Given the description of an element on the screen output the (x, y) to click on. 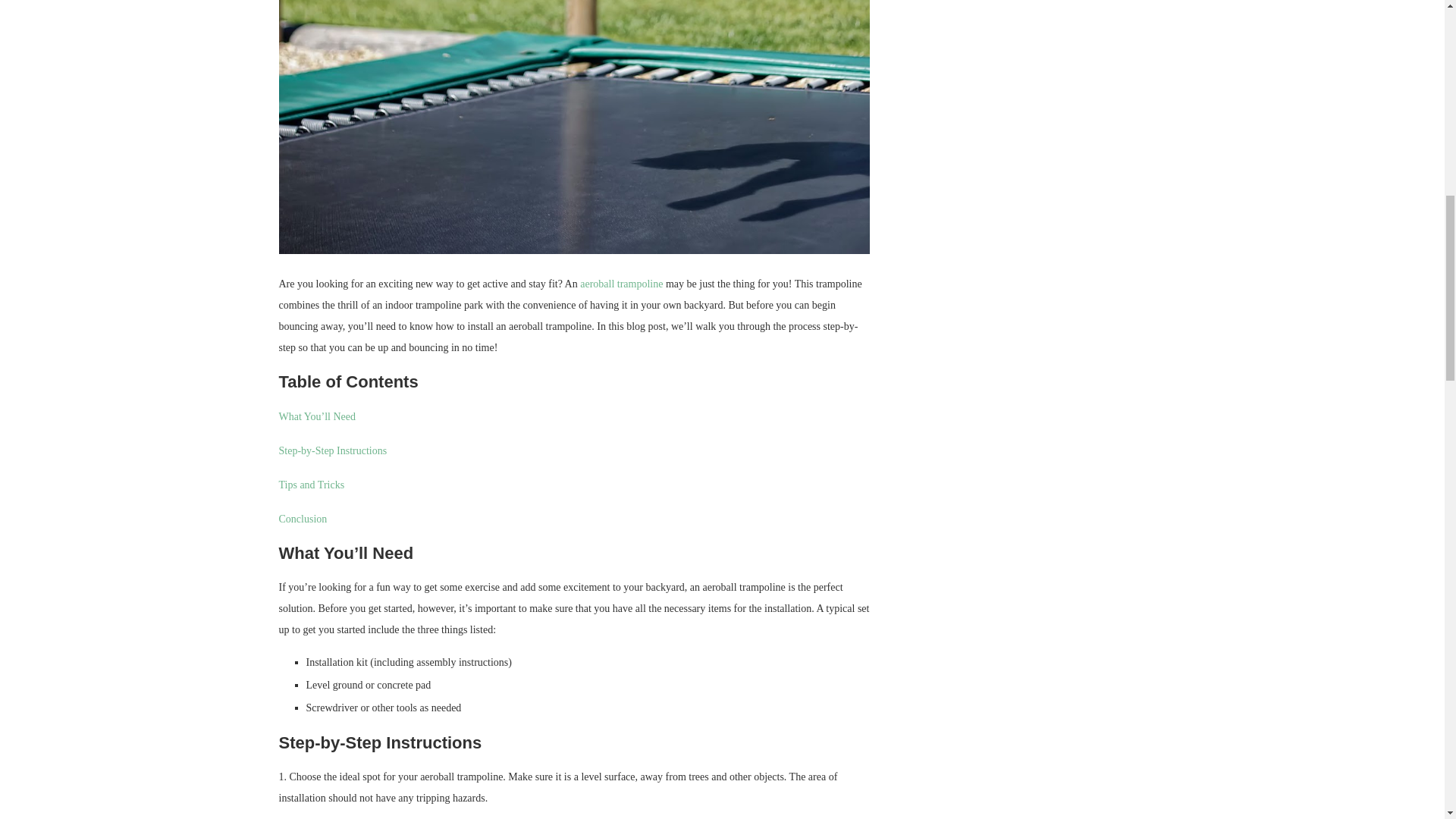
Step-by-Step Instructions (333, 450)
aeroball trampoline (622, 283)
Conclusion (303, 518)
Tips and Tricks (312, 484)
